Given the description of an element on the screen output the (x, y) to click on. 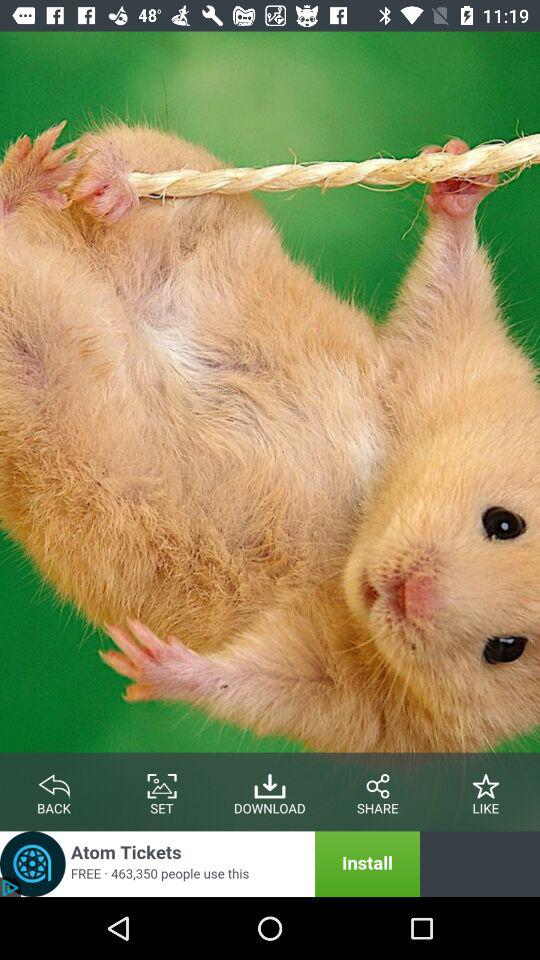
share the picture (377, 782)
